Given the description of an element on the screen output the (x, y) to click on. 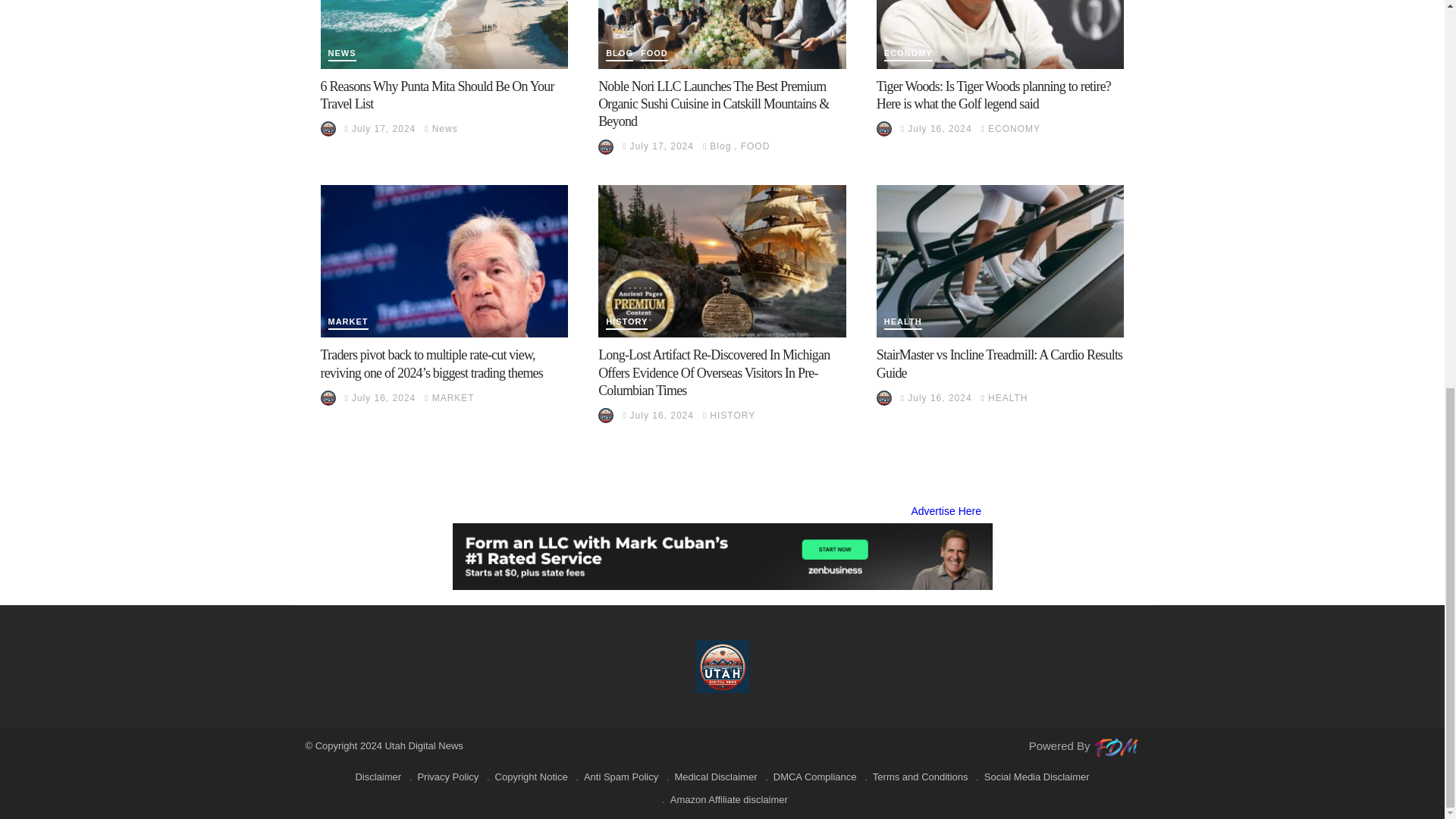
6 Reasons Why Punta Mita Should Be On Your Travel List (443, 34)
News (341, 55)
